Given the description of an element on the screen output the (x, y) to click on. 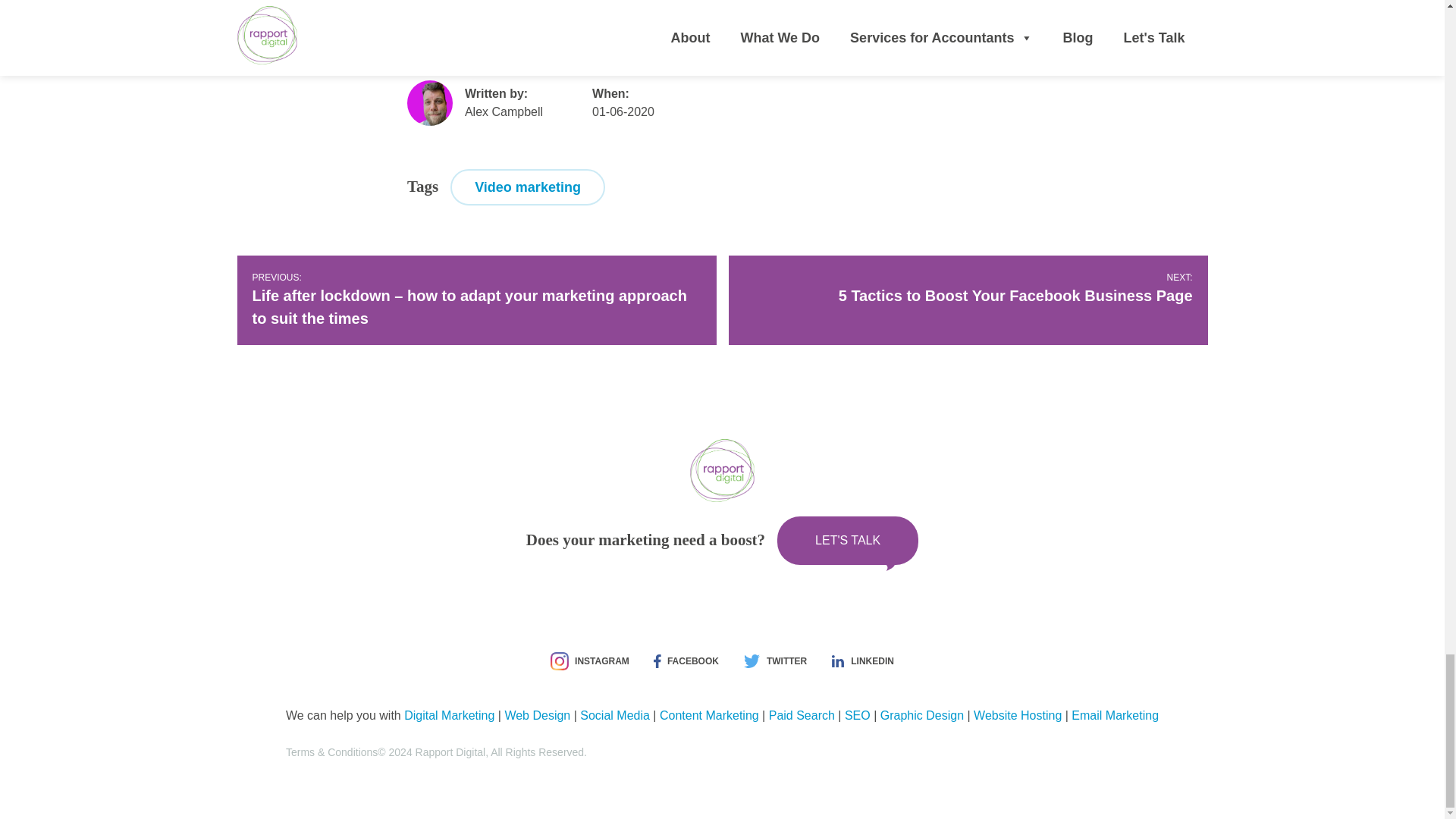
Digital Marketing (449, 715)
LINKEDIN (862, 661)
SEO (967, 289)
Graphic Design (857, 715)
Web Design (921, 715)
Website Hosting (536, 715)
Content Marketing (1017, 715)
TWITTER (708, 715)
Social Media (774, 661)
Video marketing (614, 715)
LET'S TALK (527, 186)
FACEBOOK (847, 540)
Paid Search (686, 661)
INSTAGRAM (801, 715)
